Given the description of an element on the screen output the (x, y) to click on. 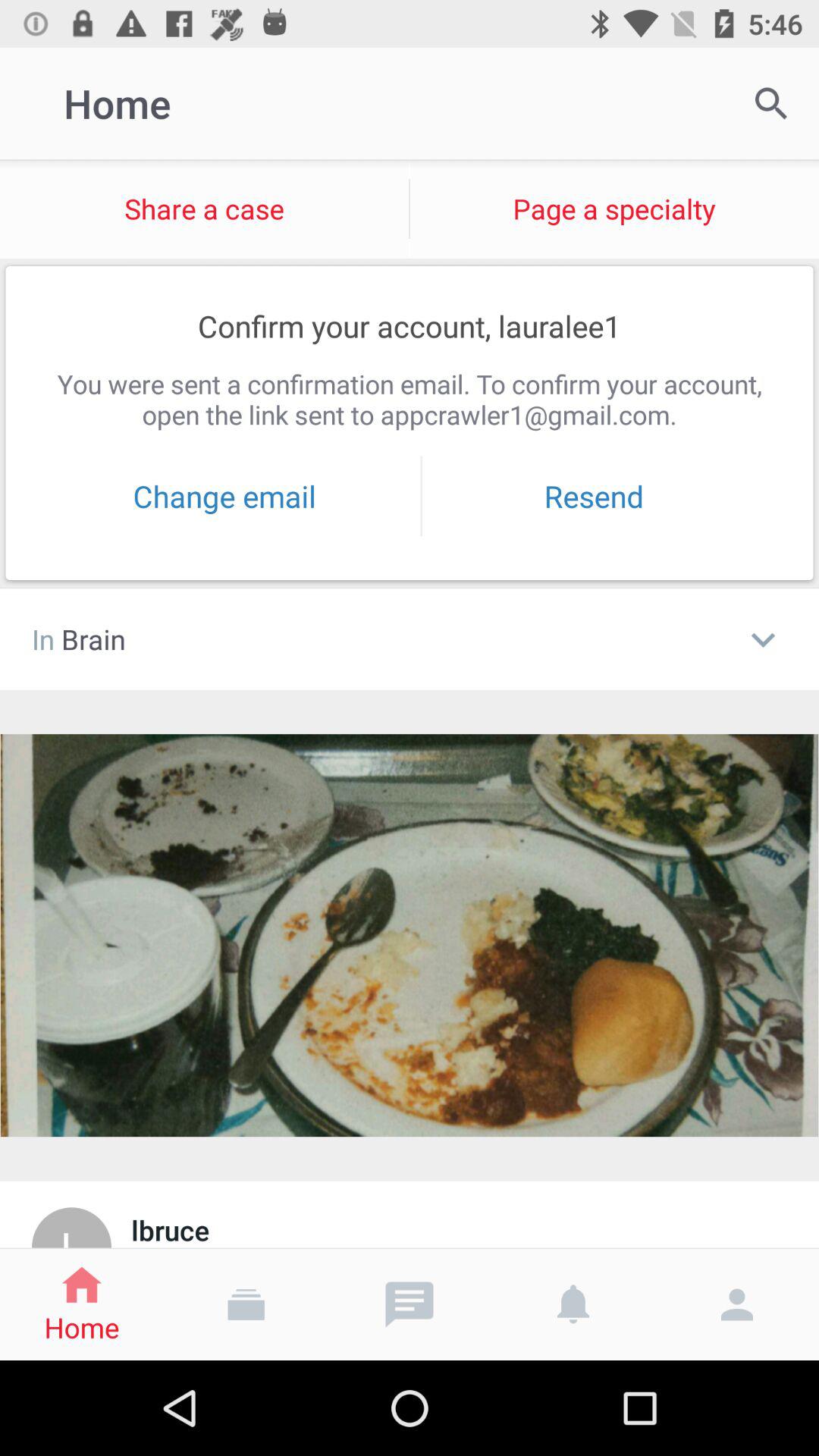
open the item below the you were sent (593, 496)
